Given the description of an element on the screen output the (x, y) to click on. 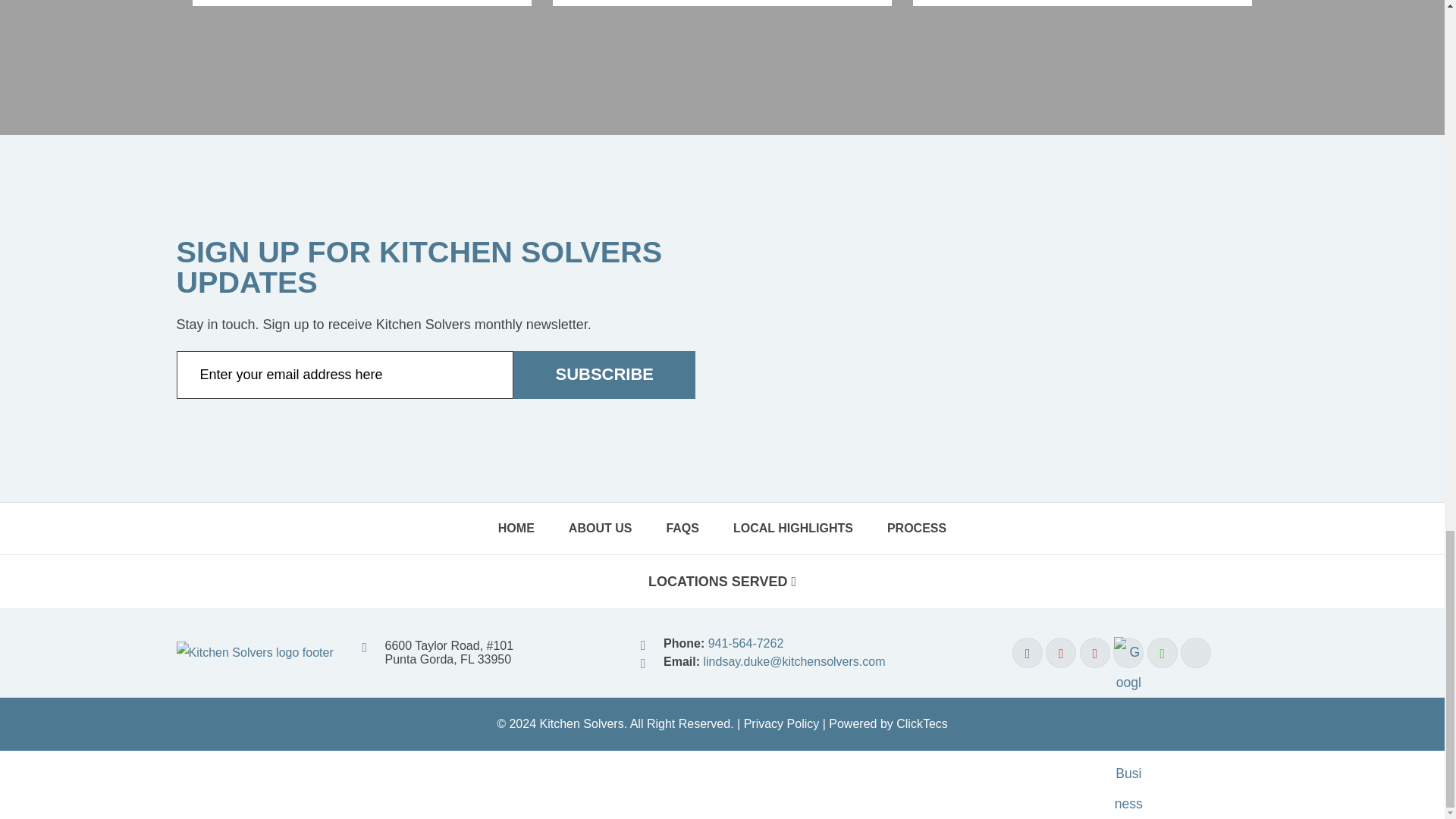
Our Projects (1081, 2)
FAQS (682, 528)
Subscribe (604, 374)
PROCESS (916, 528)
Kitchen Solvers of Punta Gorda (254, 651)
ABOUT US (600, 528)
HOME (516, 528)
Our Process (722, 2)
Subscribe (604, 374)
Schedule an Appointment! (361, 2)
LOCAL HIGHLIGHTS (792, 528)
